Given the description of an element on the screen output the (x, y) to click on. 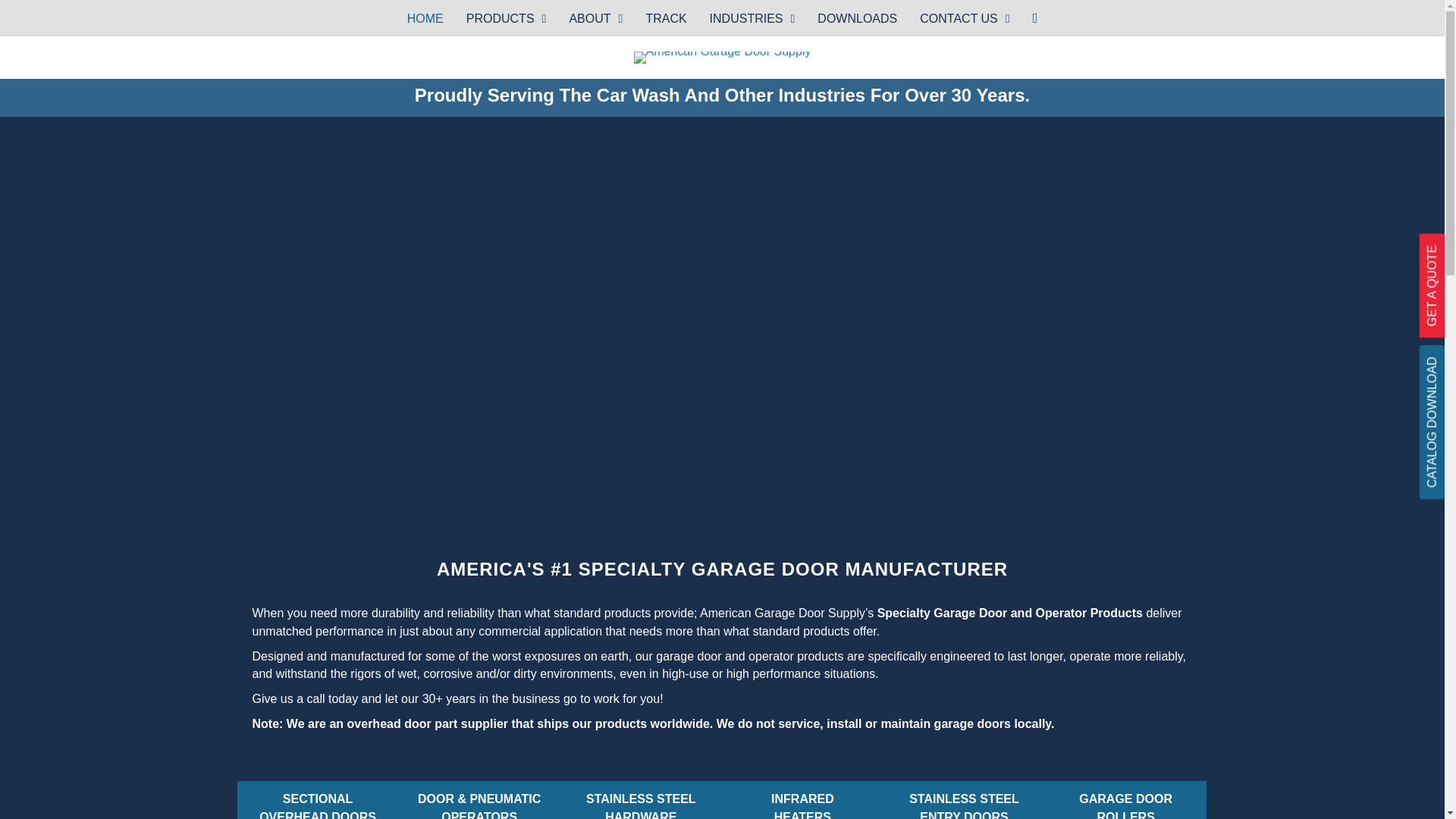
PRODUCTS (506, 18)
CONTACT US (316, 800)
STAINLESS STEEL HARDWARE (1126, 800)
INDUSTRIES (964, 18)
TRACK (641, 800)
HOME (752, 18)
ABOUT (665, 18)
American Garage Door Supply (424, 18)
